Given the description of an element on the screen output the (x, y) to click on. 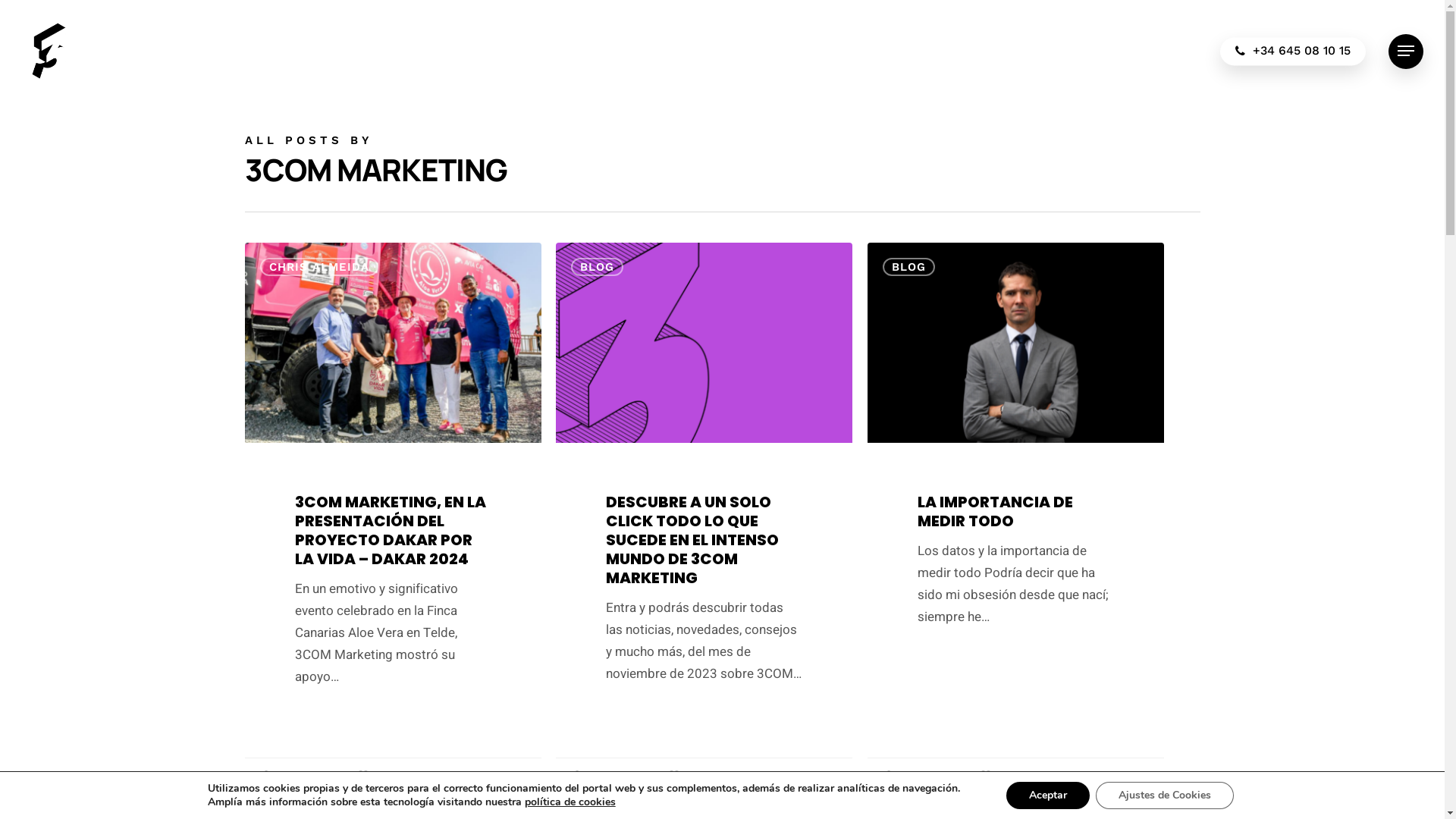
LA IMPORTANCIA DE MEDIR TODO Element type: text (995, 511)
BLOG Element type: text (596, 266)
Ajustes de Cookies Element type: text (1164, 795)
+34 645 08 10 15 Element type: text (1292, 50)
3COM Marketing Element type: text (302, 775)
CHRIS ALMEIDA Element type: text (318, 266)
0 Element type: text (989, 775)
Menu Element type: text (1405, 51)
BLOG Element type: text (908, 266)
3COM Marketing Element type: text (613, 775)
Aceptar Element type: text (1047, 795)
1 Element type: text (678, 775)
0 Element type: text (367, 775)
3COM Marketing Element type: text (924, 775)
